Given the description of an element on the screen output the (x, y) to click on. 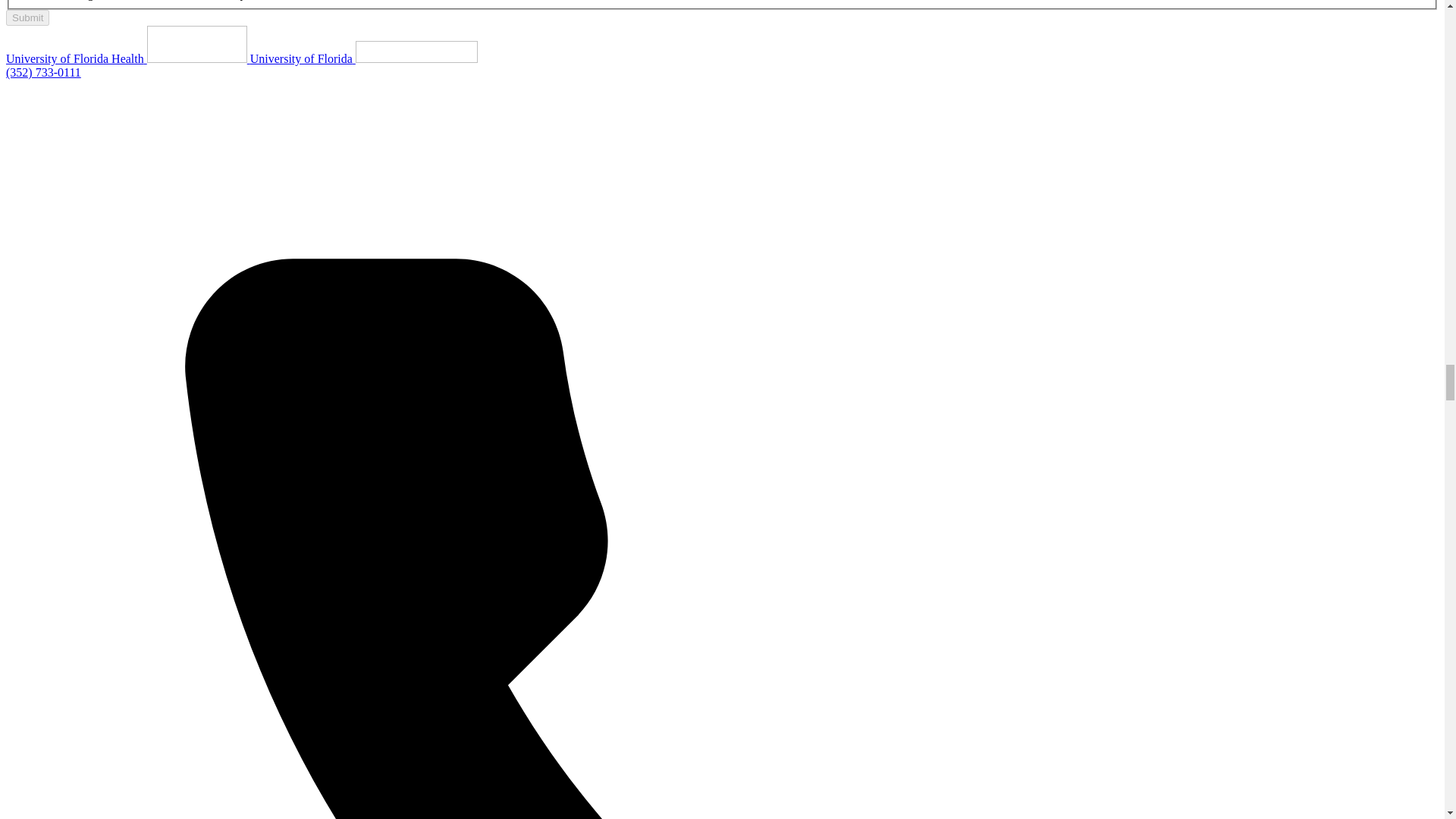
University of Florida (363, 58)
University of Florida Health (127, 58)
Submit (27, 17)
